Given the description of an element on the screen output the (x, y) to click on. 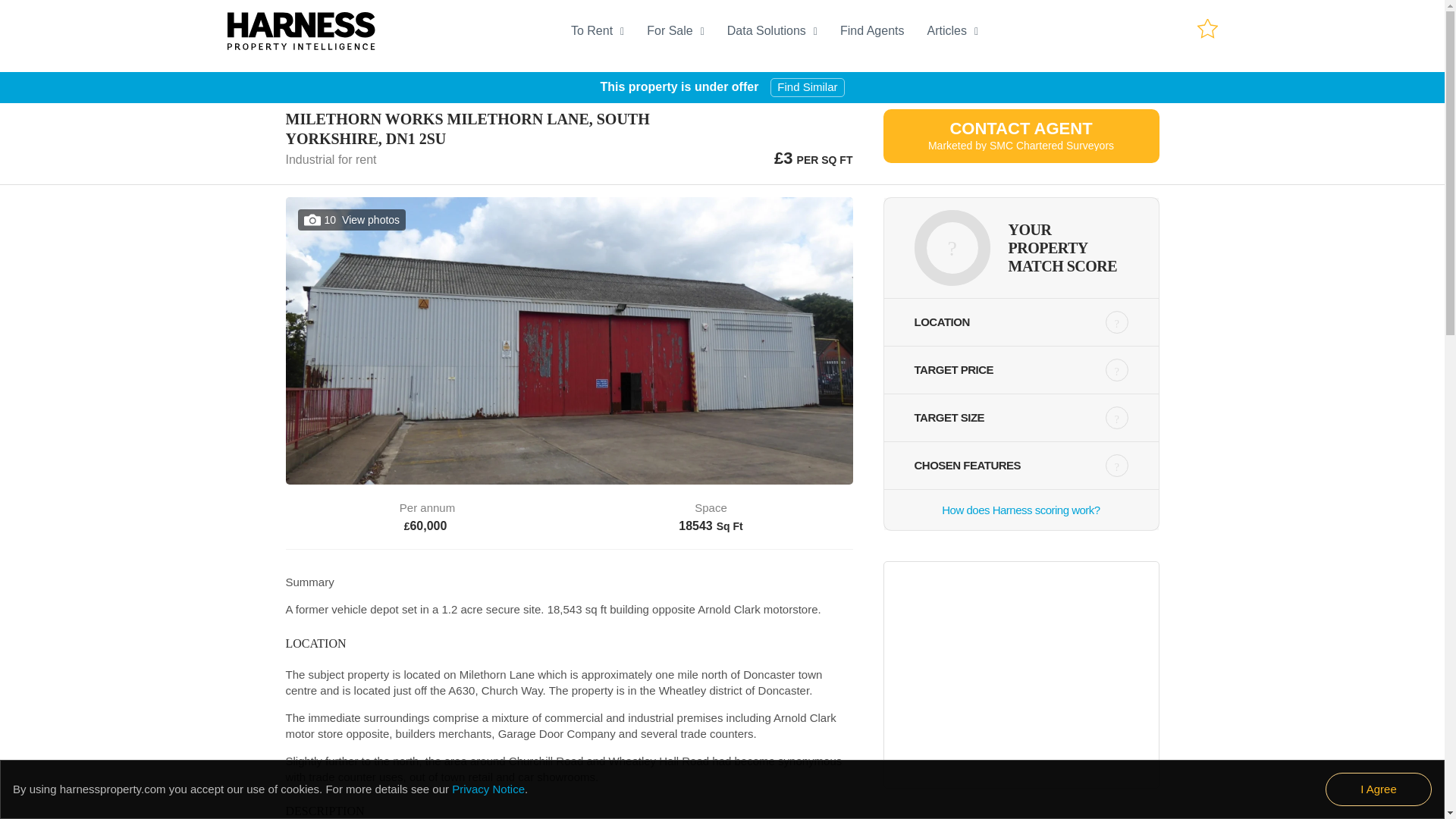
For Sale (686, 30)
To Rent (608, 30)
0 (1206, 34)
Find Agents (883, 30)
Shortlist (1020, 135)
How does Harness scoring work? (1206, 28)
Articles (1020, 509)
Data Solutions (963, 30)
Shortlist (783, 30)
